Given the description of an element on the screen output the (x, y) to click on. 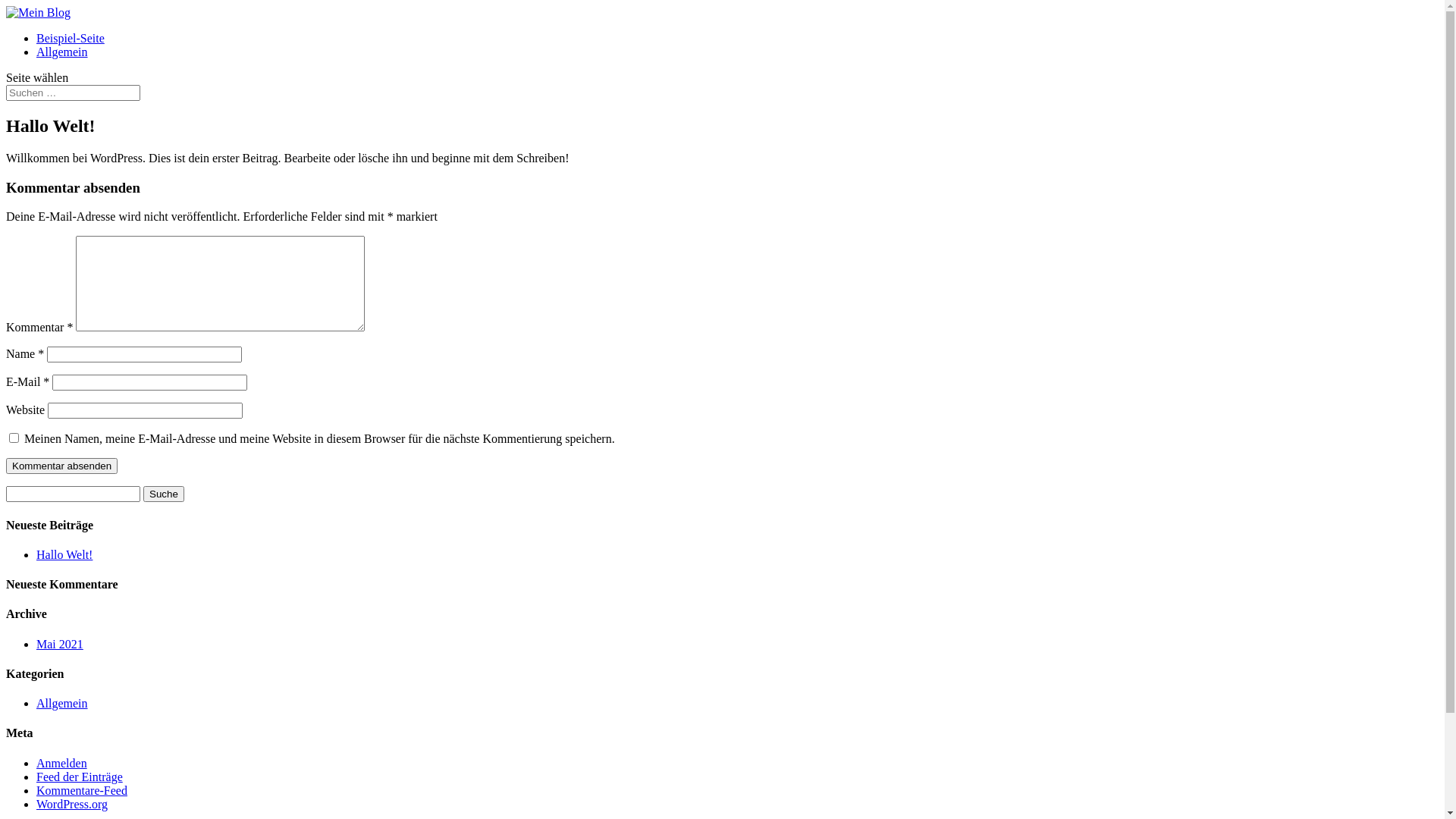
Suche Element type: text (163, 494)
Hallo Welt! Element type: text (64, 554)
Allgemein Element type: text (61, 702)
Mai 2021 Element type: text (59, 643)
Kommentare-Feed Element type: text (81, 790)
Suchen nach: Element type: hover (73, 92)
Anmelden Element type: text (61, 762)
WordPress.org Element type: text (71, 803)
Kommentar absenden Element type: text (61, 465)
Beispiel-Seite Element type: text (70, 37)
Allgemein Element type: text (61, 51)
